Given the description of an element on the screen output the (x, y) to click on. 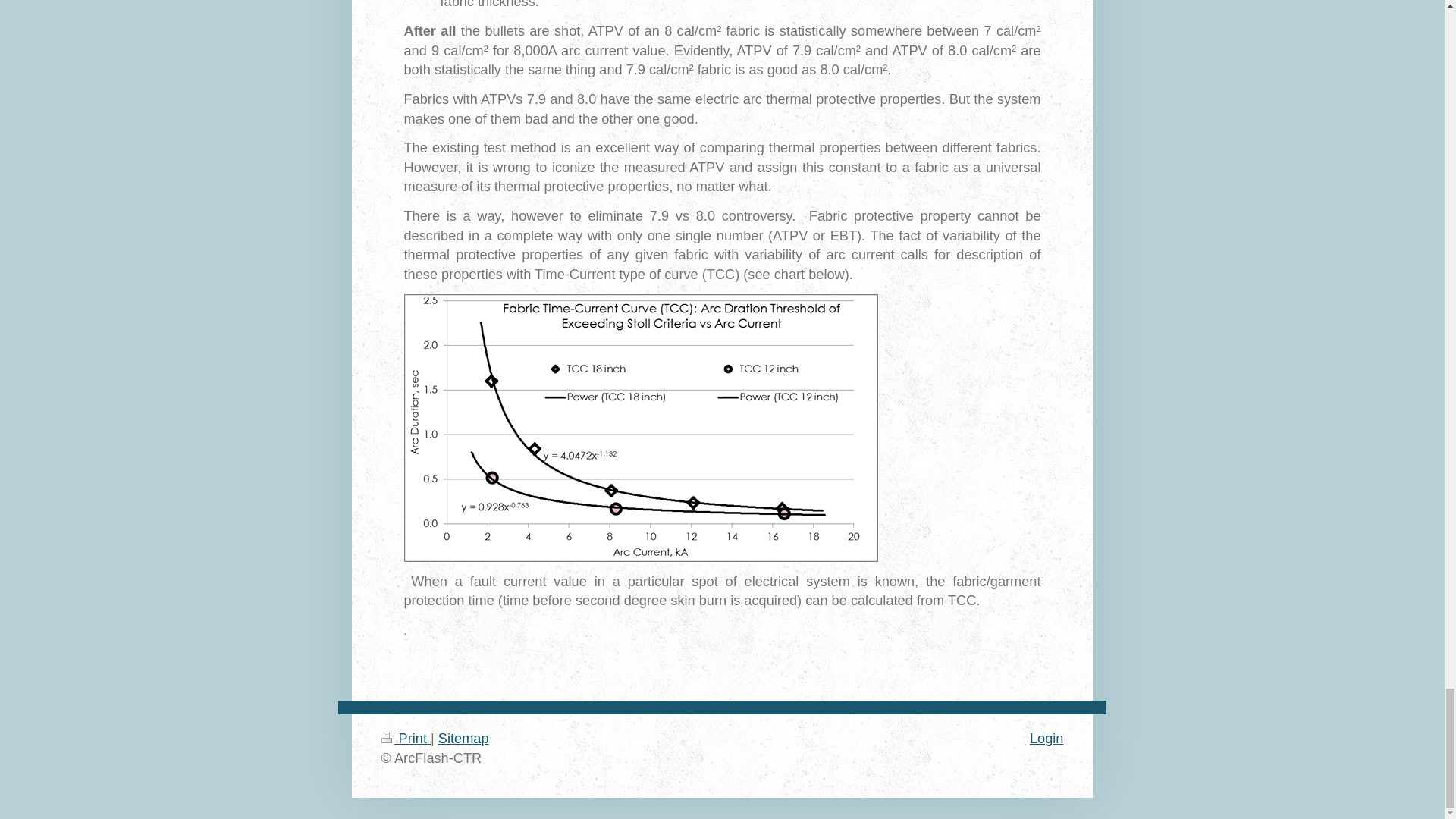
Sitemap (463, 738)
Login (1046, 738)
Print (405, 738)
